Given the description of an element on the screen output the (x, y) to click on. 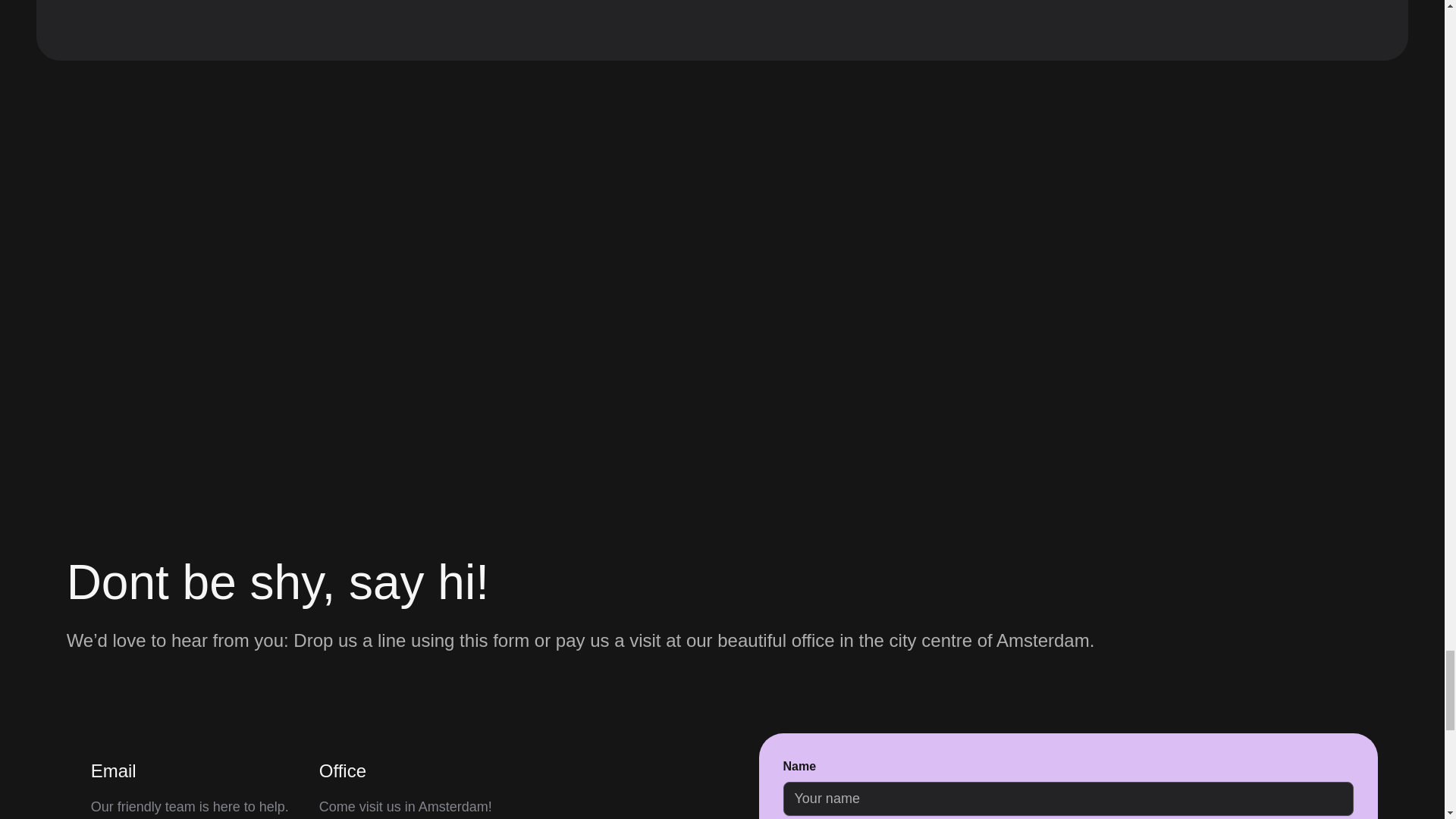
Email (113, 774)
Our friendly team is here to help. (189, 806)
Office (342, 774)
Come visit us in Amsterdam! (405, 806)
